Given the description of an element on the screen output the (x, y) to click on. 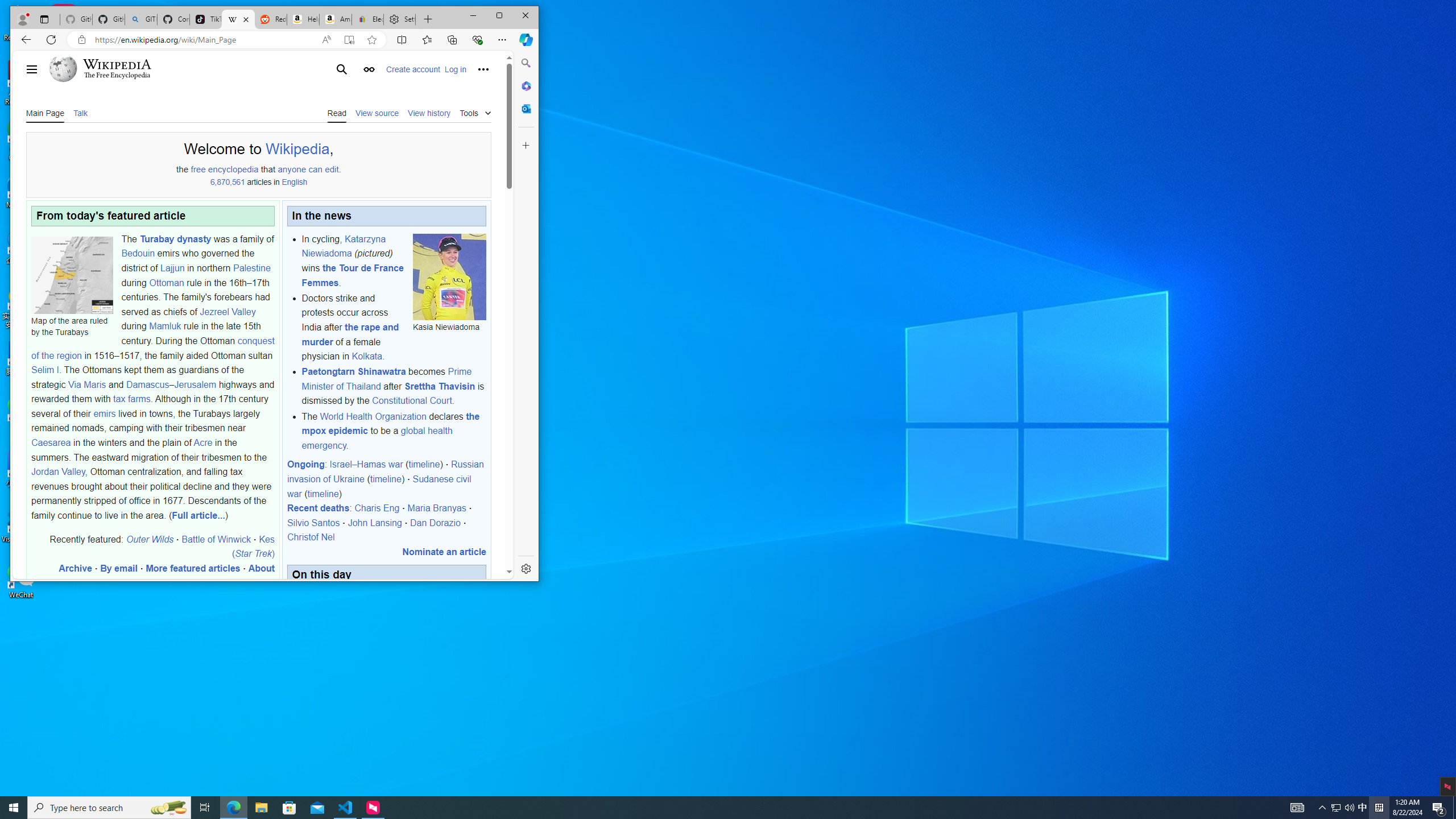
Archive (74, 568)
Visual Studio Code - 1 running window (345, 807)
Start (13, 807)
Acre (202, 442)
Running applications (707, 807)
About (261, 568)
Russian invasion of Ukraine (384, 471)
Maria Branyas (436, 508)
Log in (454, 68)
Task View (204, 807)
Turabay dynasty (175, 238)
John Lansing (374, 522)
Nominate an article (443, 551)
